Given the description of an element on the screen output the (x, y) to click on. 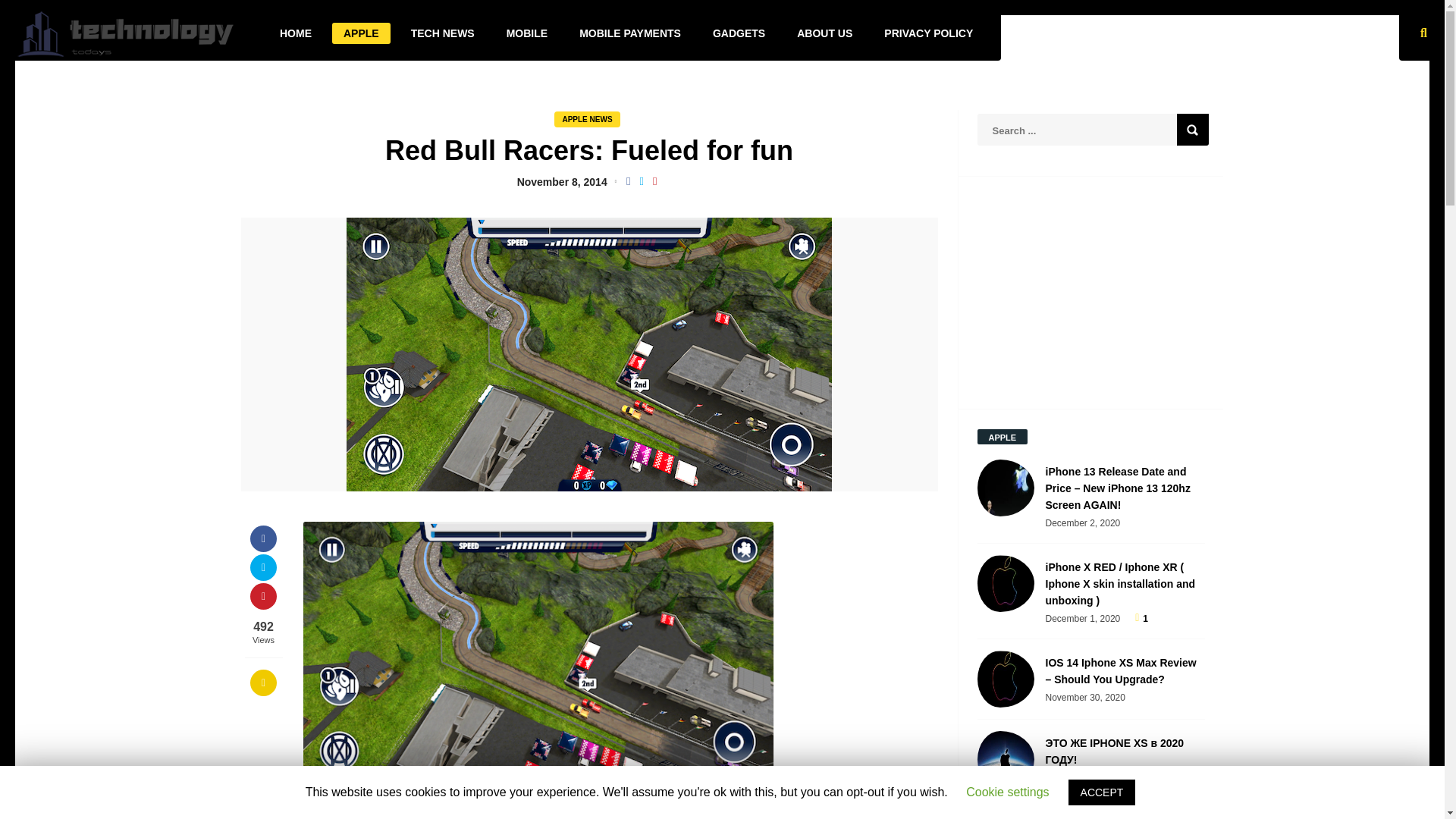
MOBILE (527, 33)
MOBILE PAYMENTS (630, 33)
TECH NEWS (442, 33)
ABOUT US (824, 33)
HOME (295, 33)
APPLE NEWS (587, 119)
PRIVACY POLICY (928, 33)
GADGETS (738, 33)
APPLE (360, 33)
